Given the description of an element on the screen output the (x, y) to click on. 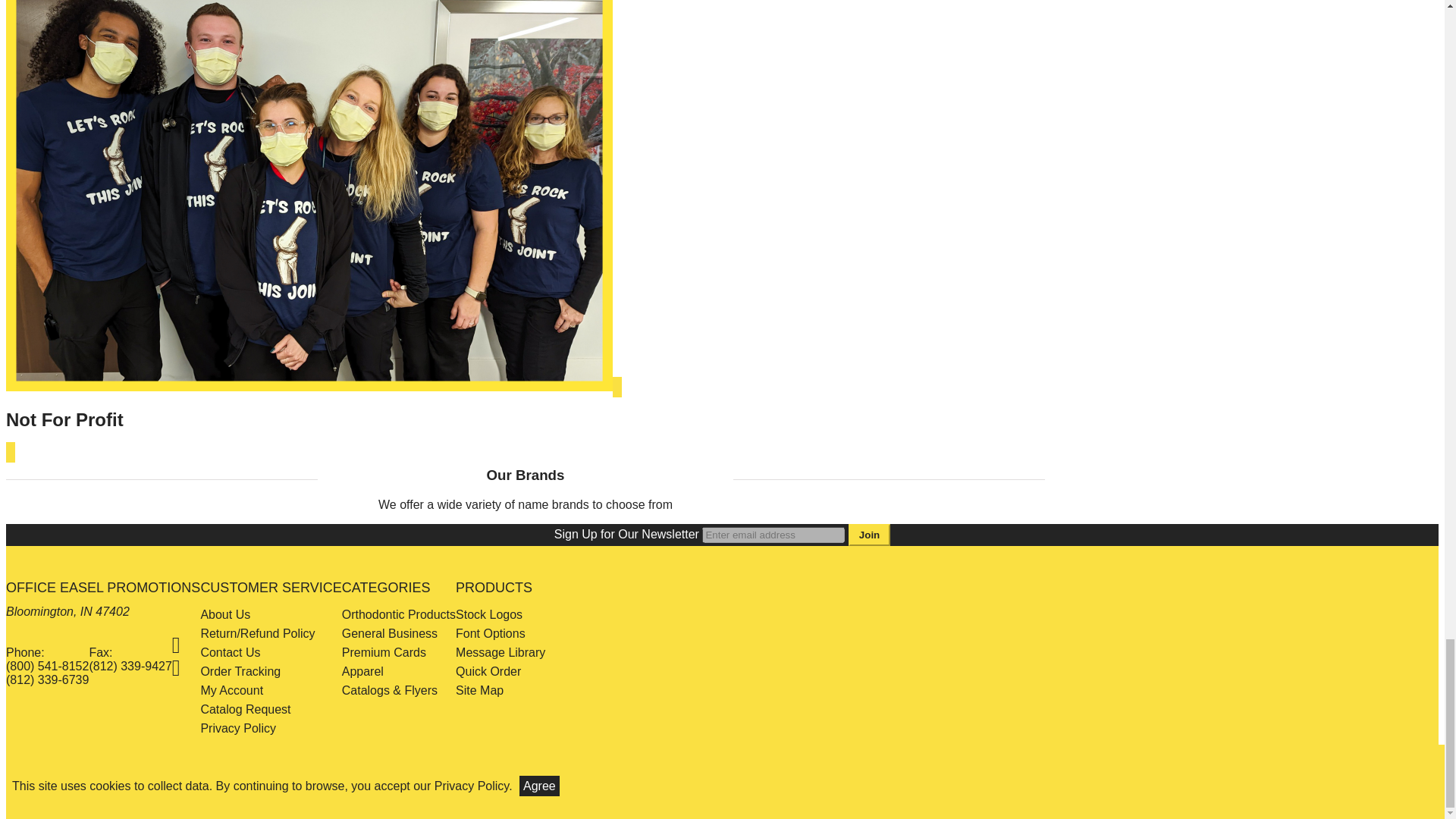
Join (868, 535)
